Given the description of an element on the screen output the (x, y) to click on. 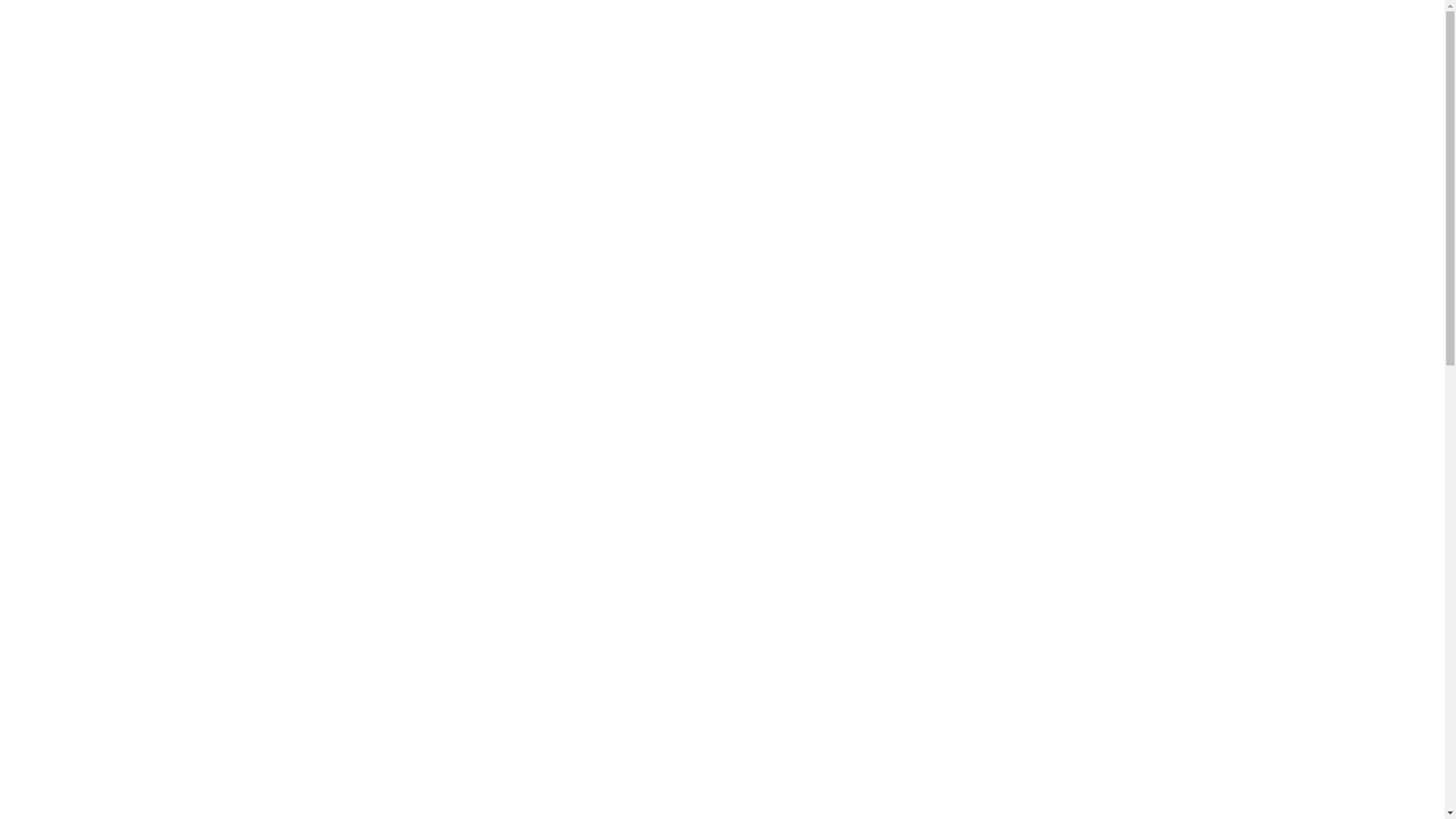
Show me the photos! Element type: text (344, 499)
